Given the description of an element on the screen output the (x, y) to click on. 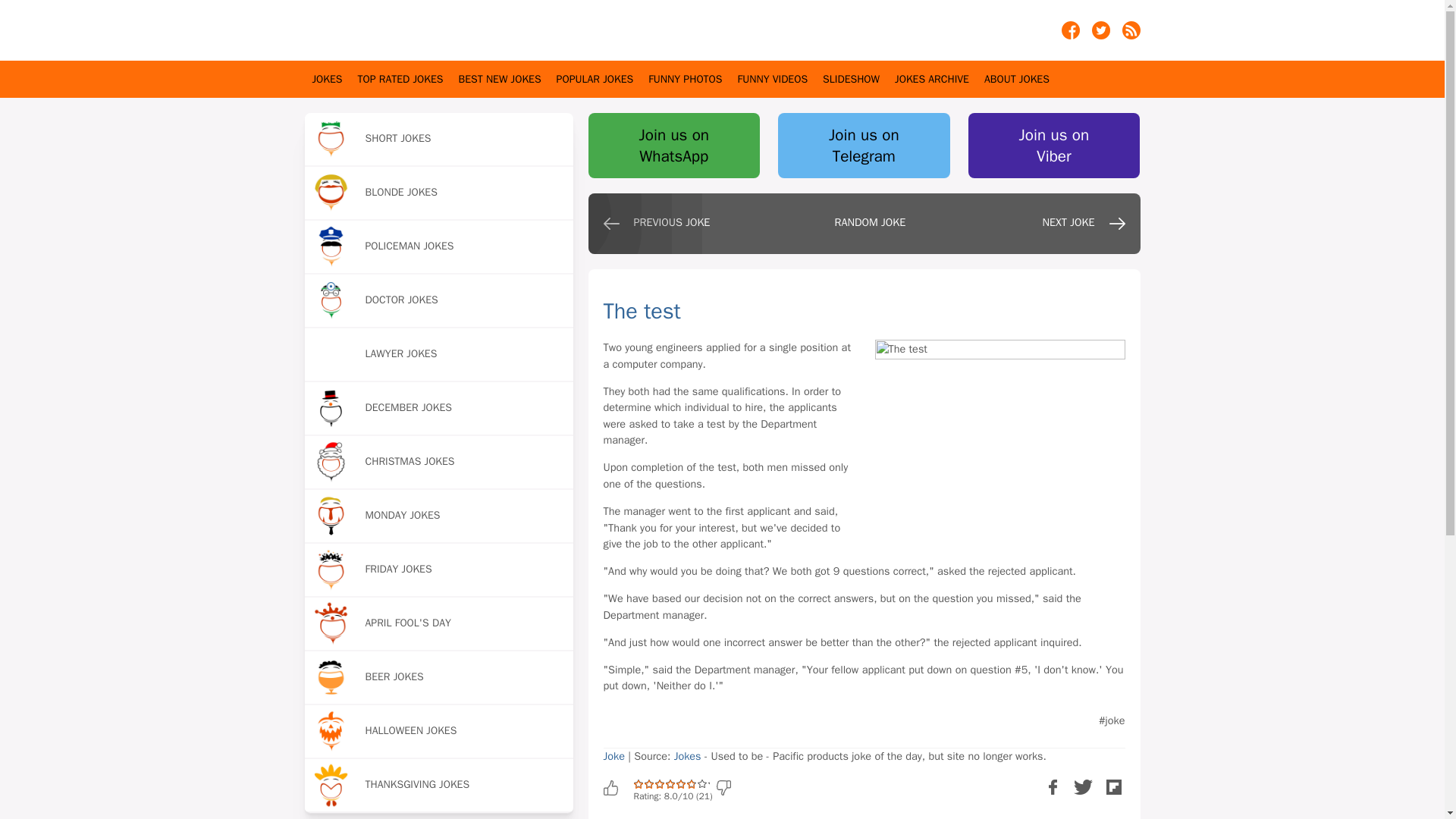
Popular Jokes (594, 78)
Jokes of the day on RSS feed (1131, 35)
Funny Photos (684, 78)
PREVIOUS JOKE (660, 227)
Slideshow (850, 78)
Jokes Archive (932, 78)
Funny Videos (772, 78)
POPULAR JOKES (594, 78)
NEXT JOKE (1068, 227)
